Given the description of an element on the screen output the (x, y) to click on. 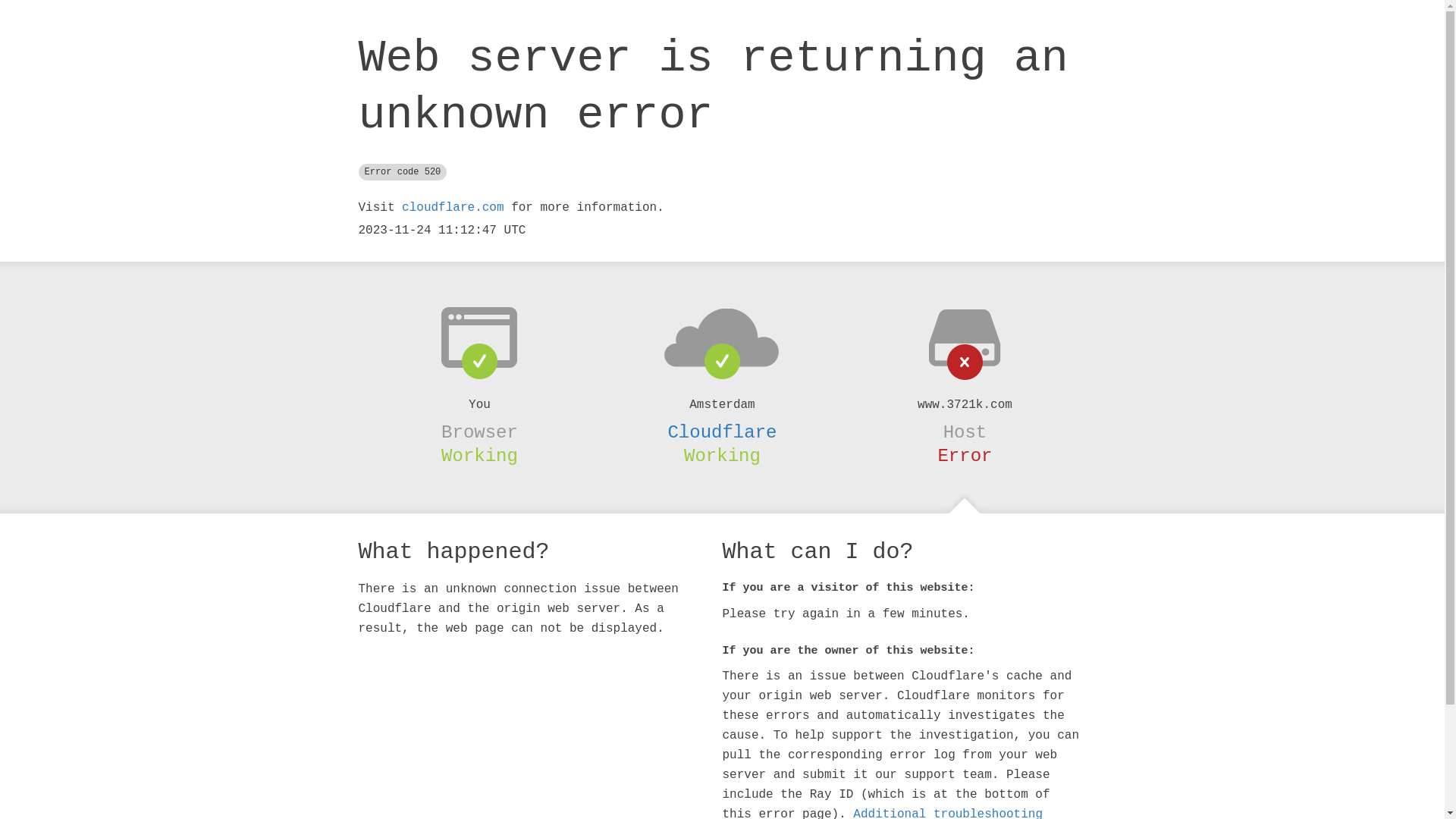
cloudflare.com Element type: text (452, 207)
Cloudflare Element type: text (721, 432)
